Given the description of an element on the screen output the (x, y) to click on. 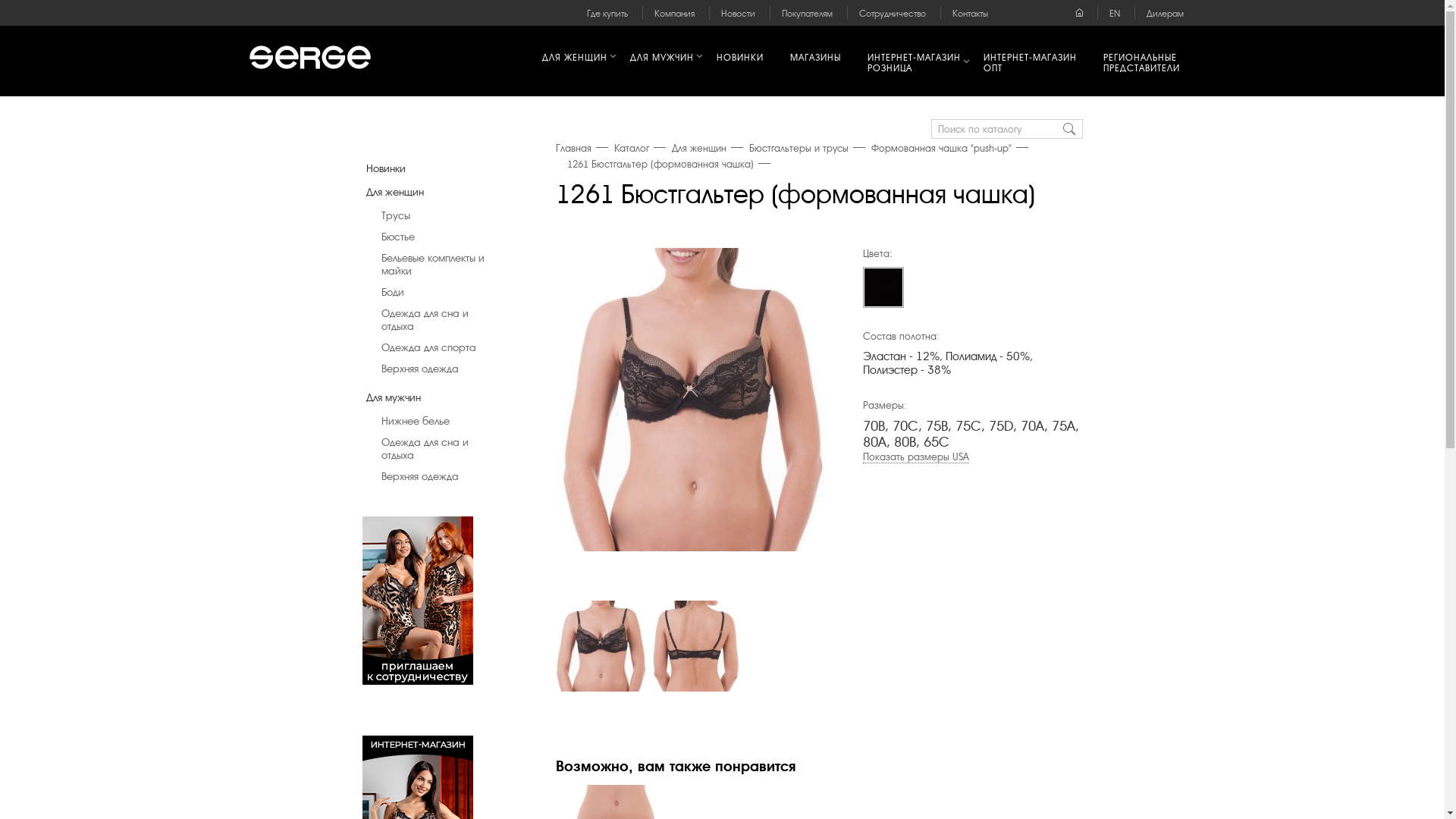
EN Element type: text (1114, 13)
